Given the description of an element on the screen output the (x, y) to click on. 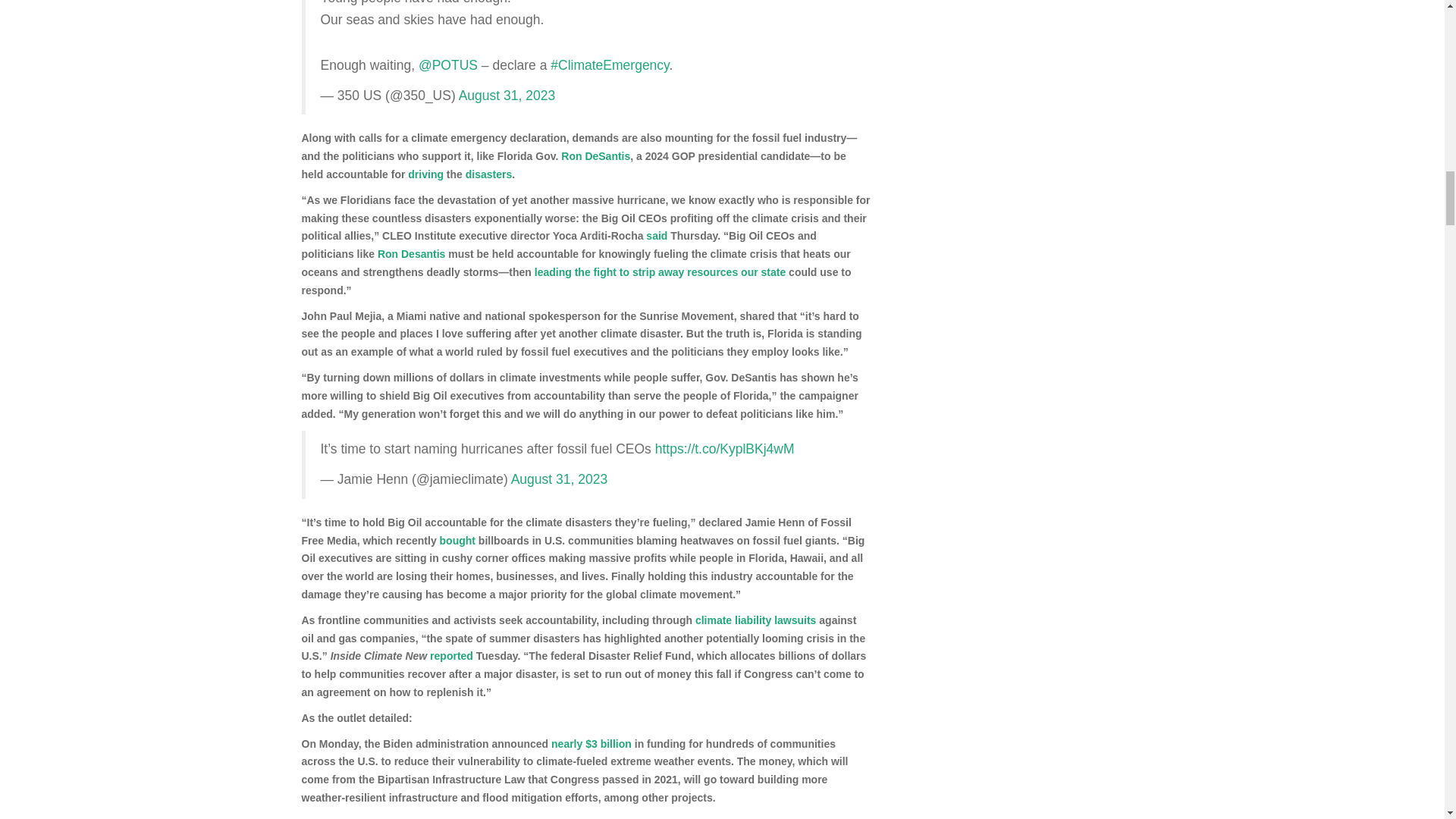
August 31, 2023 (559, 478)
said (656, 235)
leading the fight to strip away resources our state (660, 272)
Ron Desantis (411, 254)
disasters (488, 174)
August 31, 2023 (506, 95)
driving (425, 174)
Ron DeSantis (595, 155)
bought (457, 540)
